Given the description of an element on the screen output the (x, y) to click on. 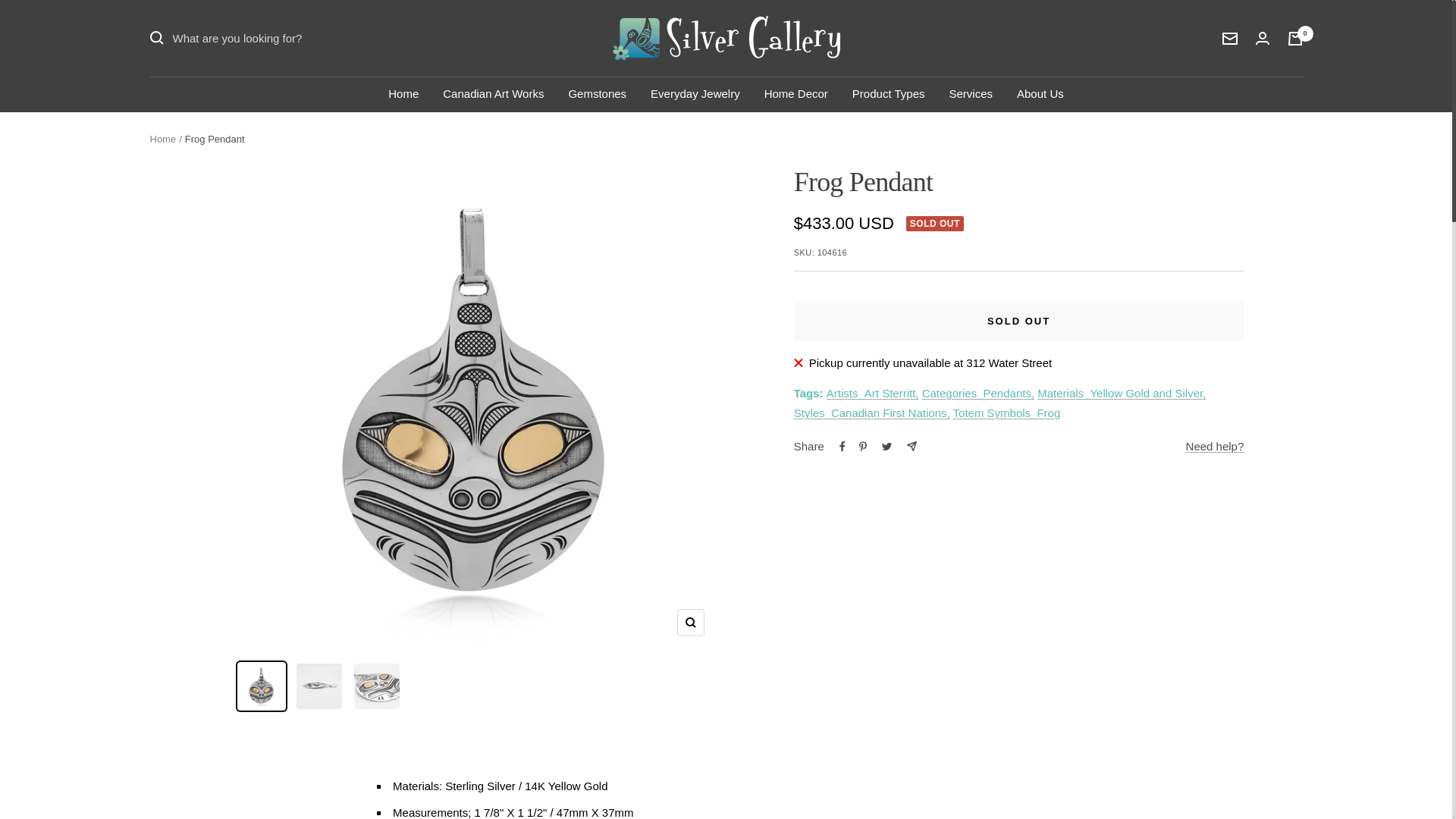
Everyday Jewelry (694, 94)
0 (1295, 38)
SilverTalks by Silver Gallery (726, 37)
Home (162, 138)
Home (403, 94)
Services (970, 94)
Zoom (690, 622)
SOLD OUT (1018, 321)
Newsletter (1230, 37)
Gemstones (596, 94)
Canadian Art Works (492, 94)
About Us (1040, 94)
Product Types (887, 94)
Home Decor (796, 94)
